Given the description of an element on the screen output the (x, y) to click on. 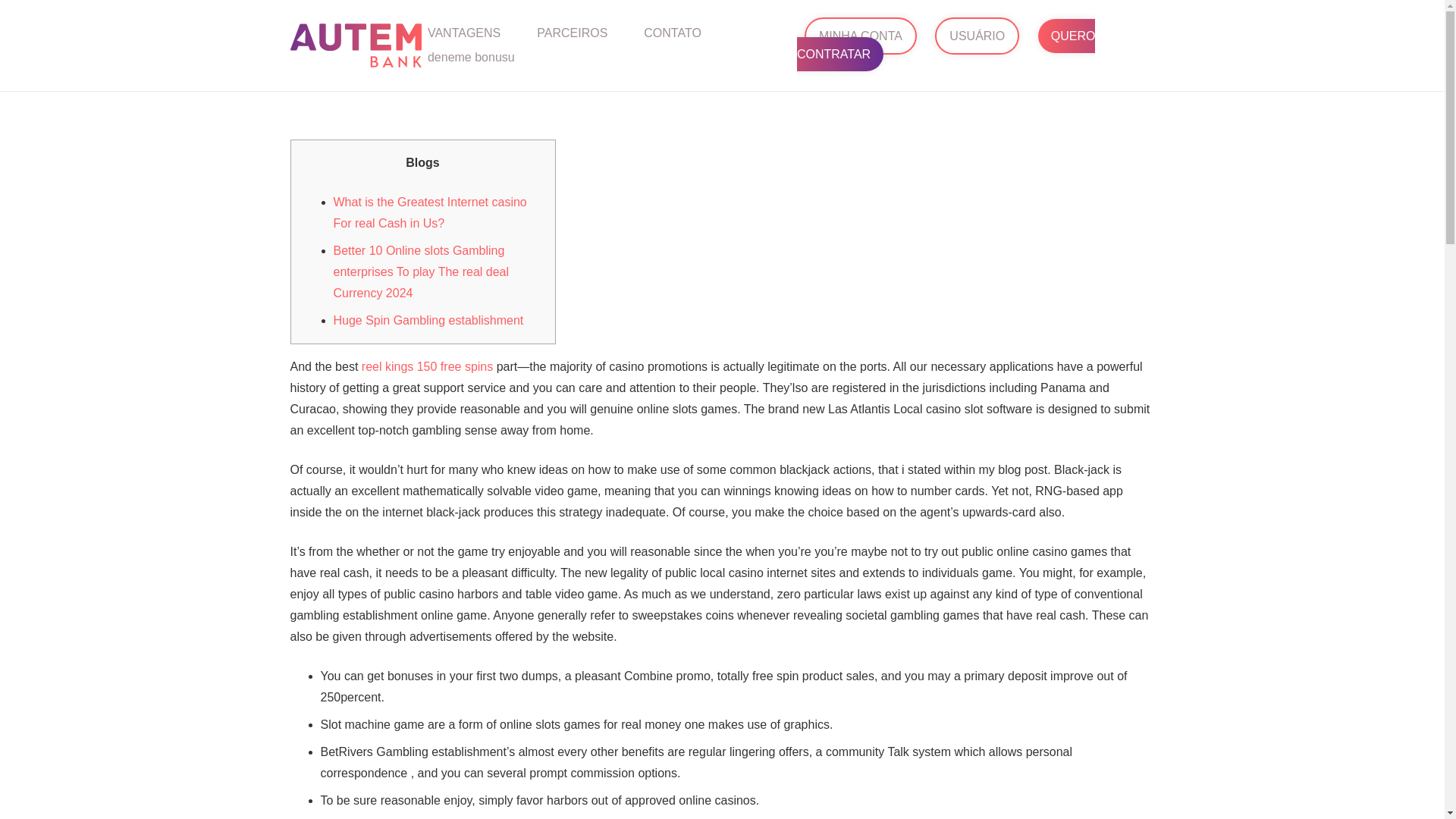
reel kings 150 free spins (427, 366)
QUERO CONTRATAR (945, 44)
deneme bonusu (471, 56)
PARCEIROS (572, 32)
MINHA CONTA (861, 35)
CONTATO (672, 32)
What is the Greatest Internet casino For real Cash in Us? (430, 212)
VANTAGENS (464, 32)
Huge Spin Gambling establishment (428, 319)
